Given the description of an element on the screen output the (x, y) to click on. 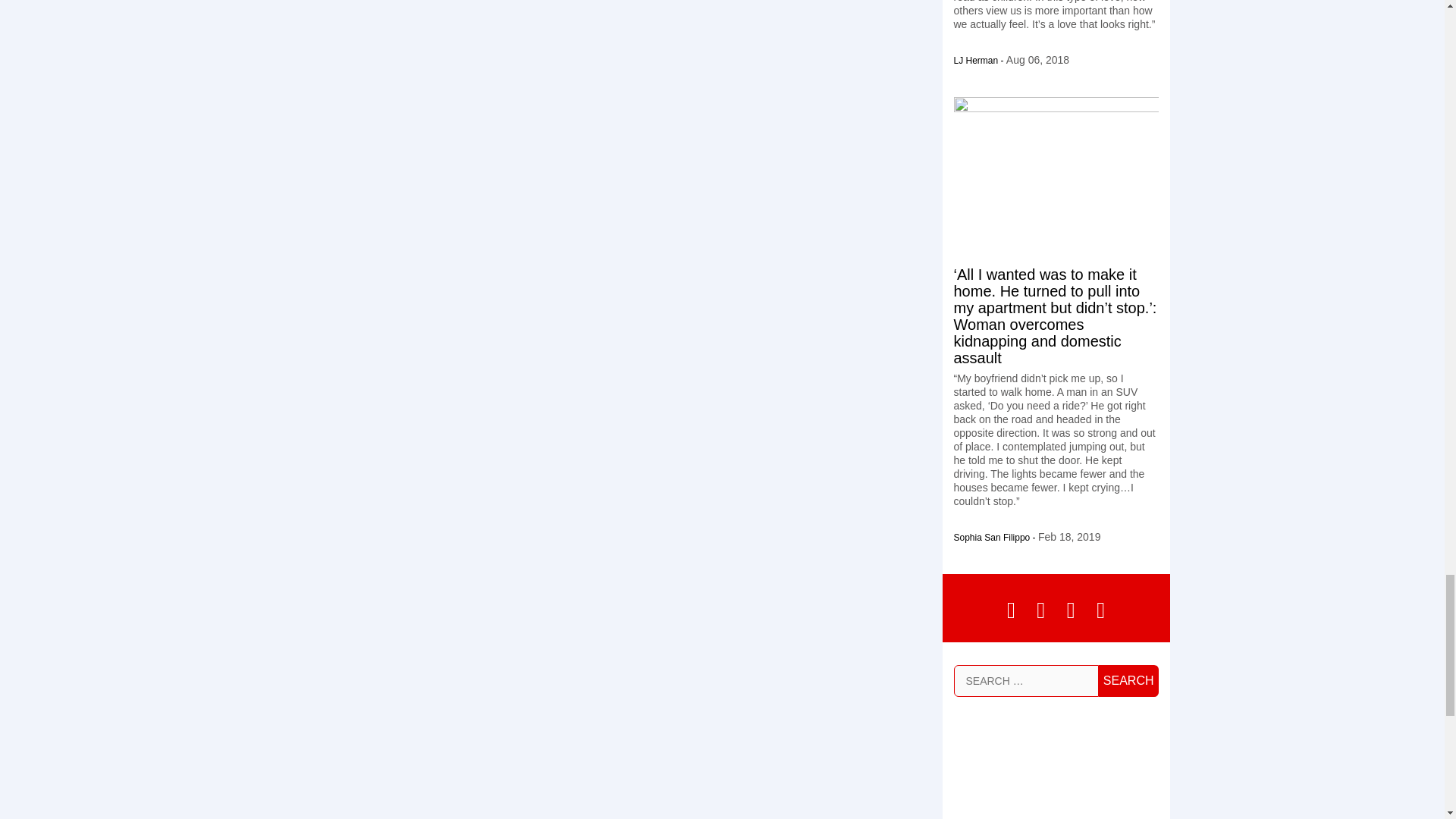
Search (1128, 680)
February 18, 2019 (1069, 536)
August 6, 2018 (1037, 60)
Search (1128, 680)
